Given the description of an element on the screen output the (x, y) to click on. 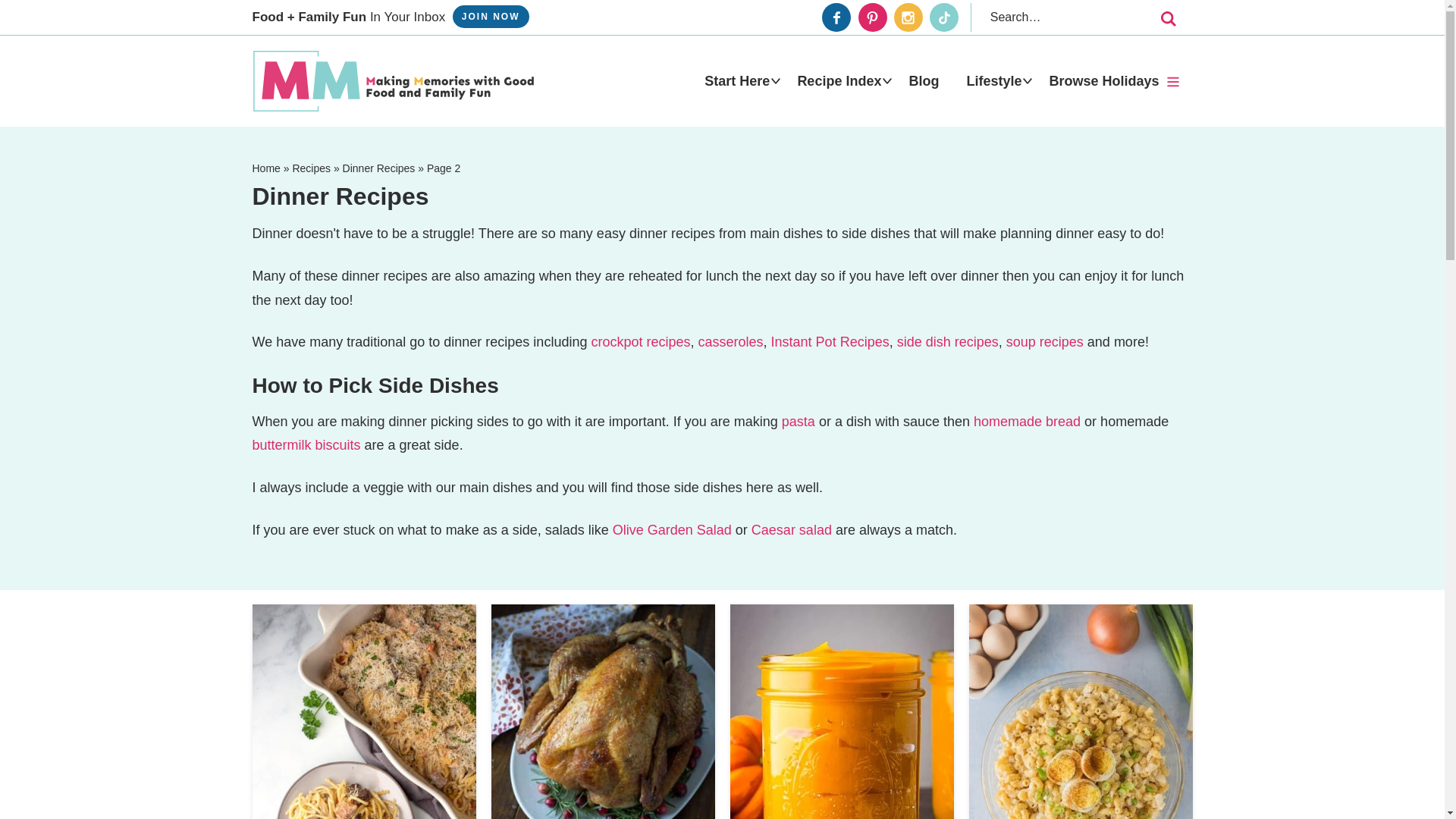
Start Here (736, 80)
MIDGETMOMMA (392, 80)
Search for (1078, 17)
JOIN NOW (490, 15)
Recipe Index (839, 80)
